Given the description of an element on the screen output the (x, y) to click on. 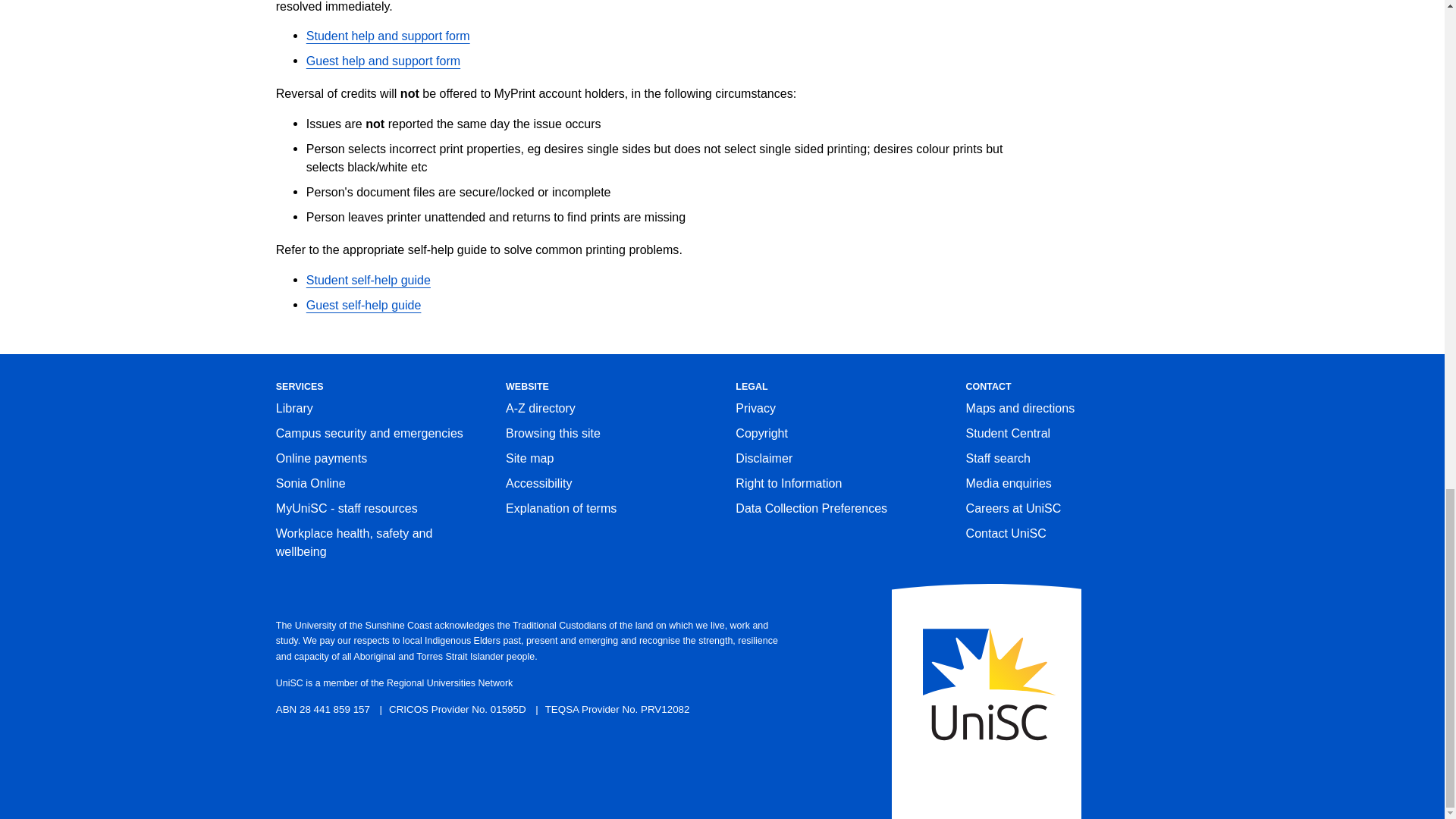
Guest help and support form (382, 60)
Student self-help guide (367, 279)
Guest printing help-guide (363, 305)
Student help and support form (387, 35)
